Given the description of an element on the screen output the (x, y) to click on. 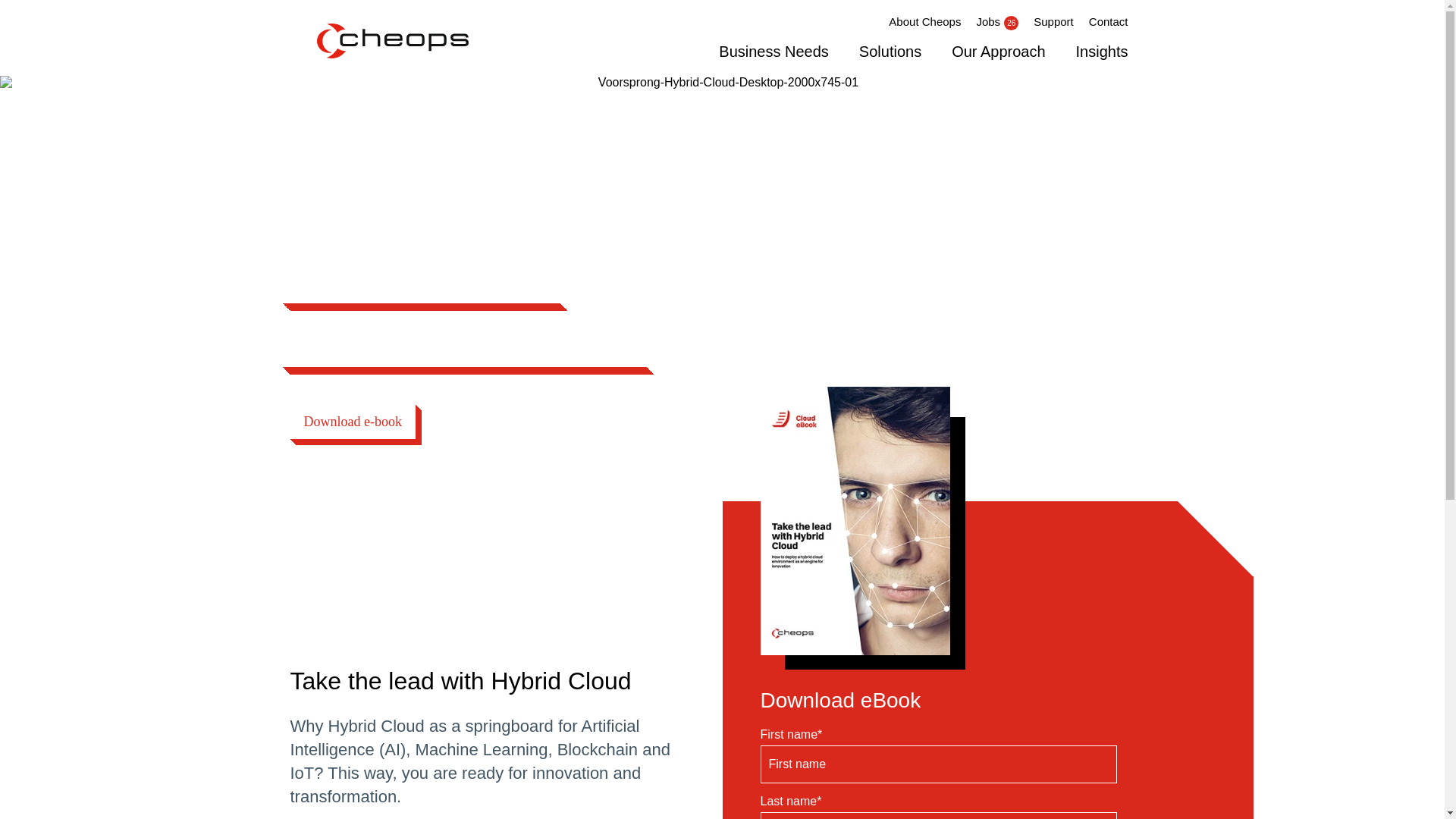
Our Approach (997, 51)
About Cheops (924, 21)
Insights (1094, 51)
Business Needs (773, 53)
Jobs26 (996, 21)
Solutions (890, 53)
Contact (1108, 21)
Support (1053, 21)
